Given the description of an element on the screen output the (x, y) to click on. 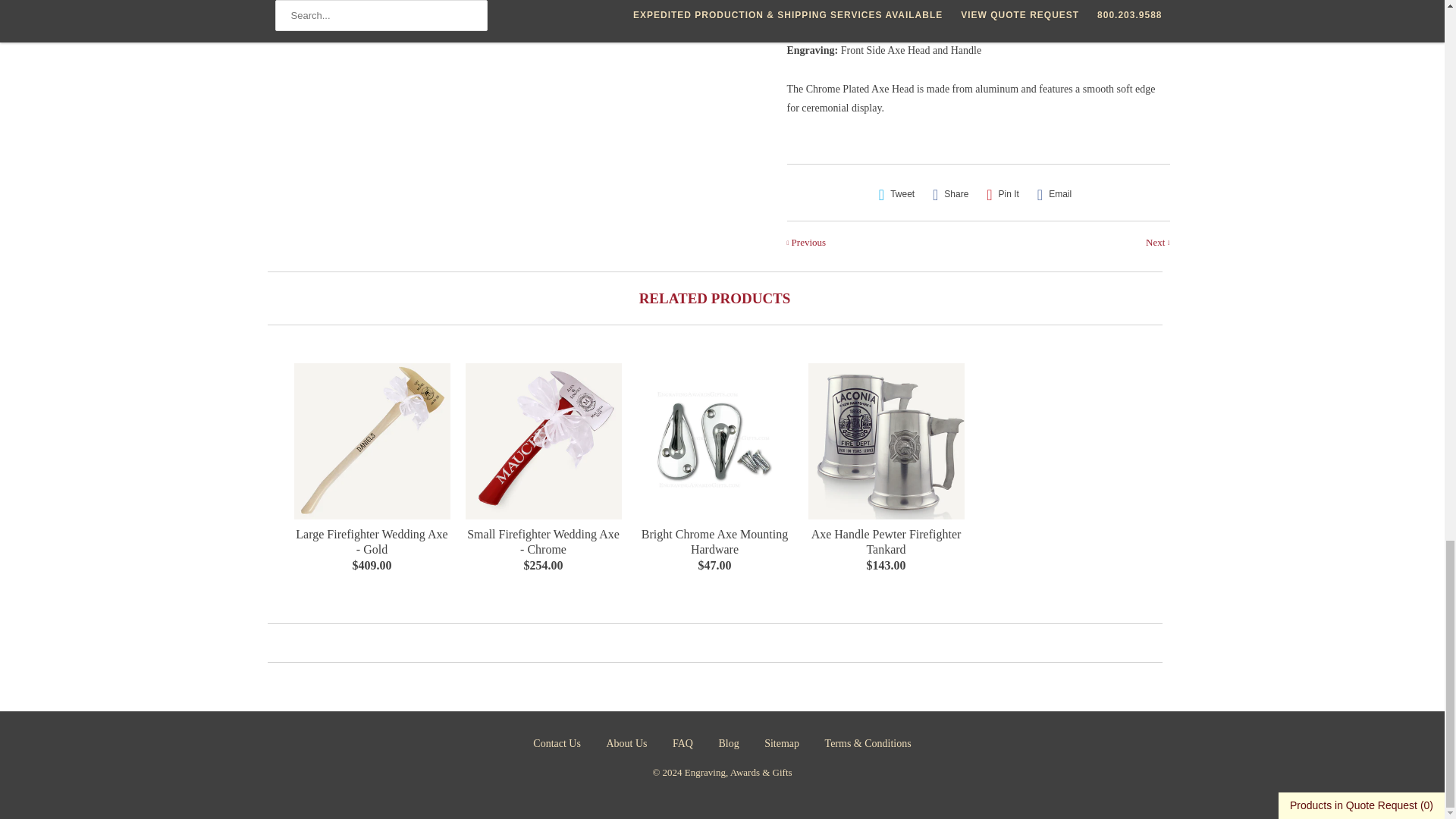
Pin It (1002, 194)
Tweet (896, 194)
Email (1053, 194)
Large Firefighter Wedding Axe - Gold (371, 542)
Previous (807, 242)
Next (1157, 242)
Share (950, 194)
